Given the description of an element on the screen output the (x, y) to click on. 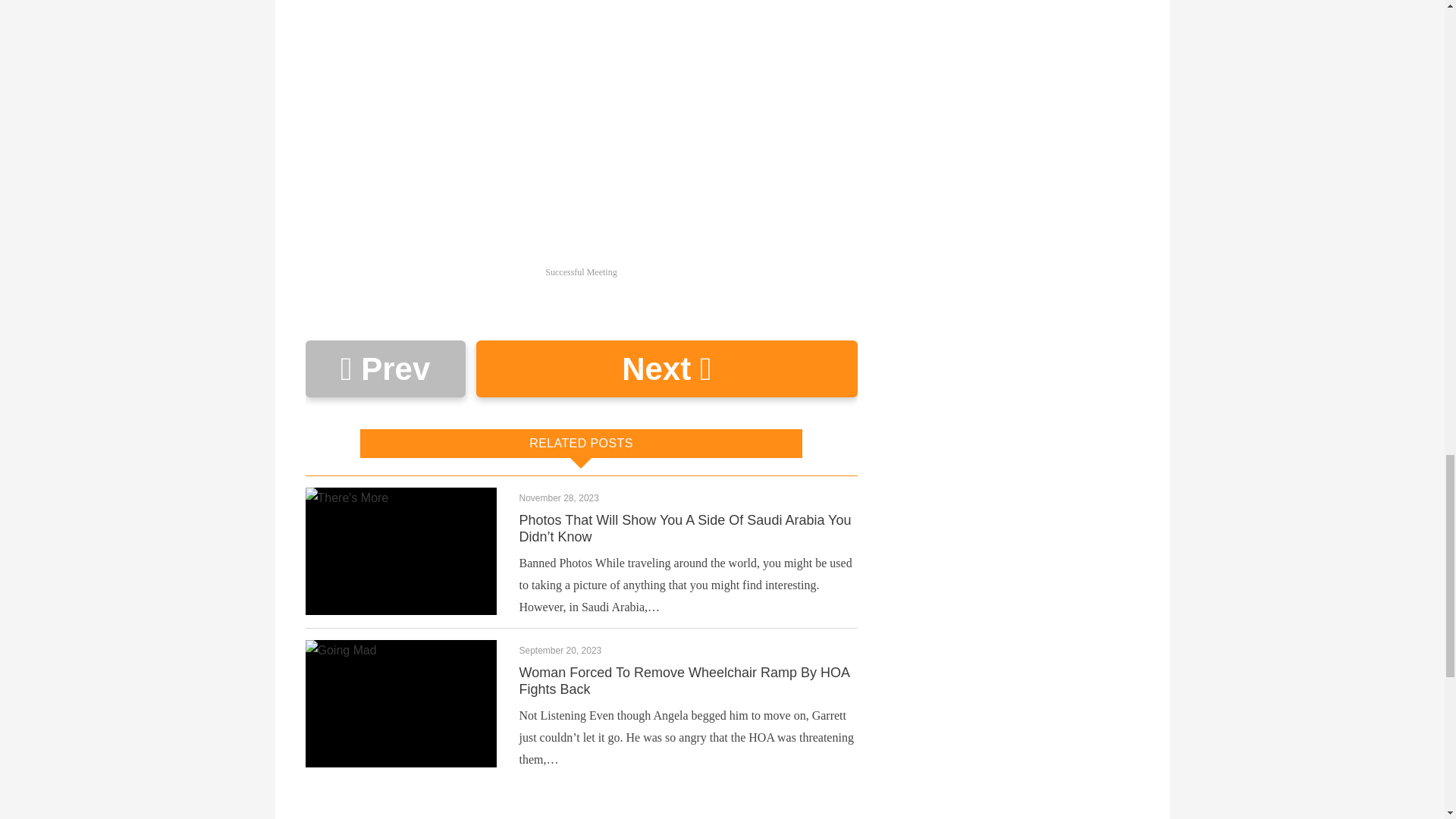
Next (666, 368)
Woman Forced To Remove Wheelchair Ramp By HOA Fights Back (683, 680)
Prev (384, 368)
